Given the description of an element on the screen output the (x, y) to click on. 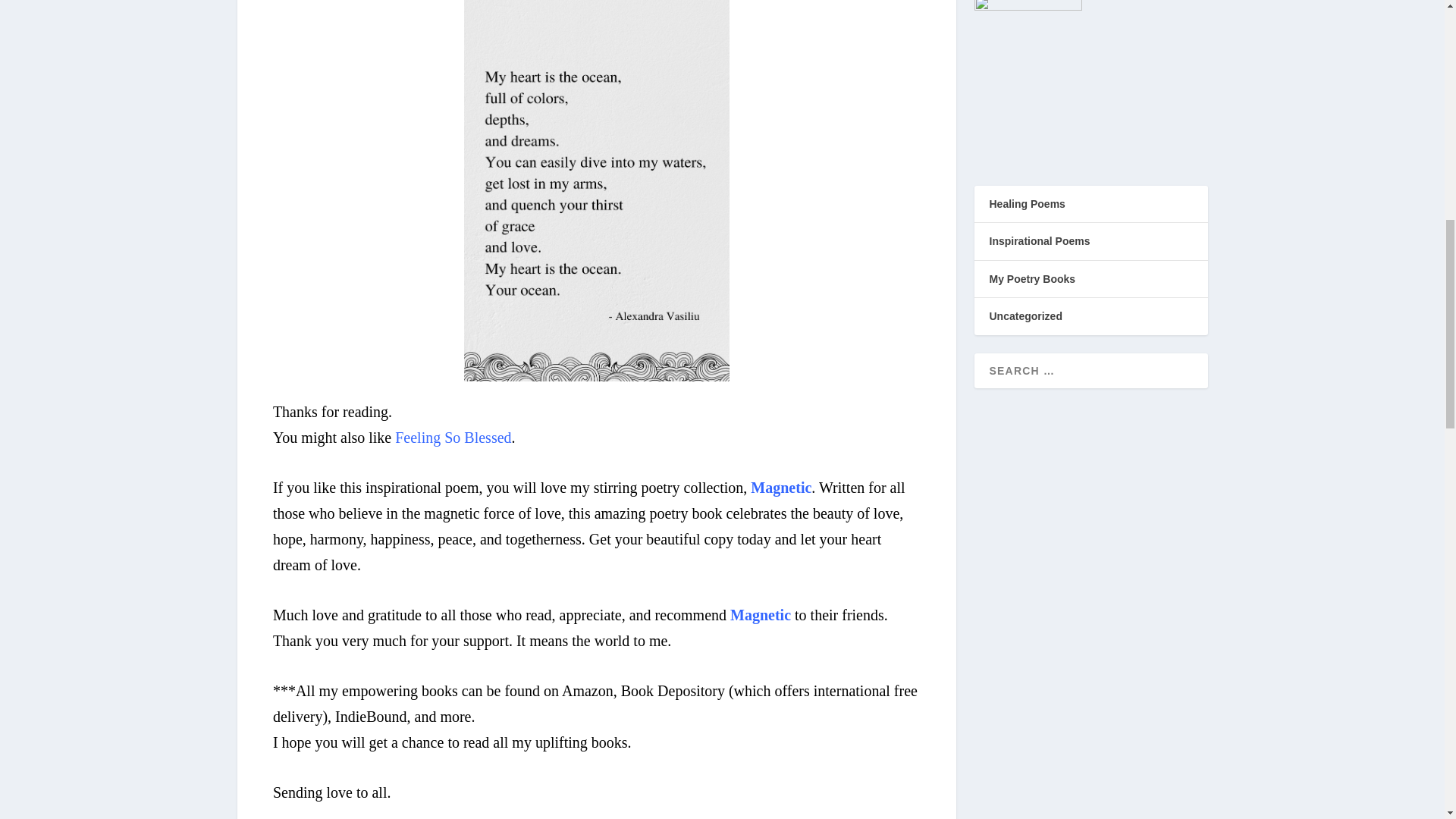
Feeling So Blessed (452, 437)
Magnetic (780, 487)
Magnetic (760, 614)
